Given the description of an element on the screen output the (x, y) to click on. 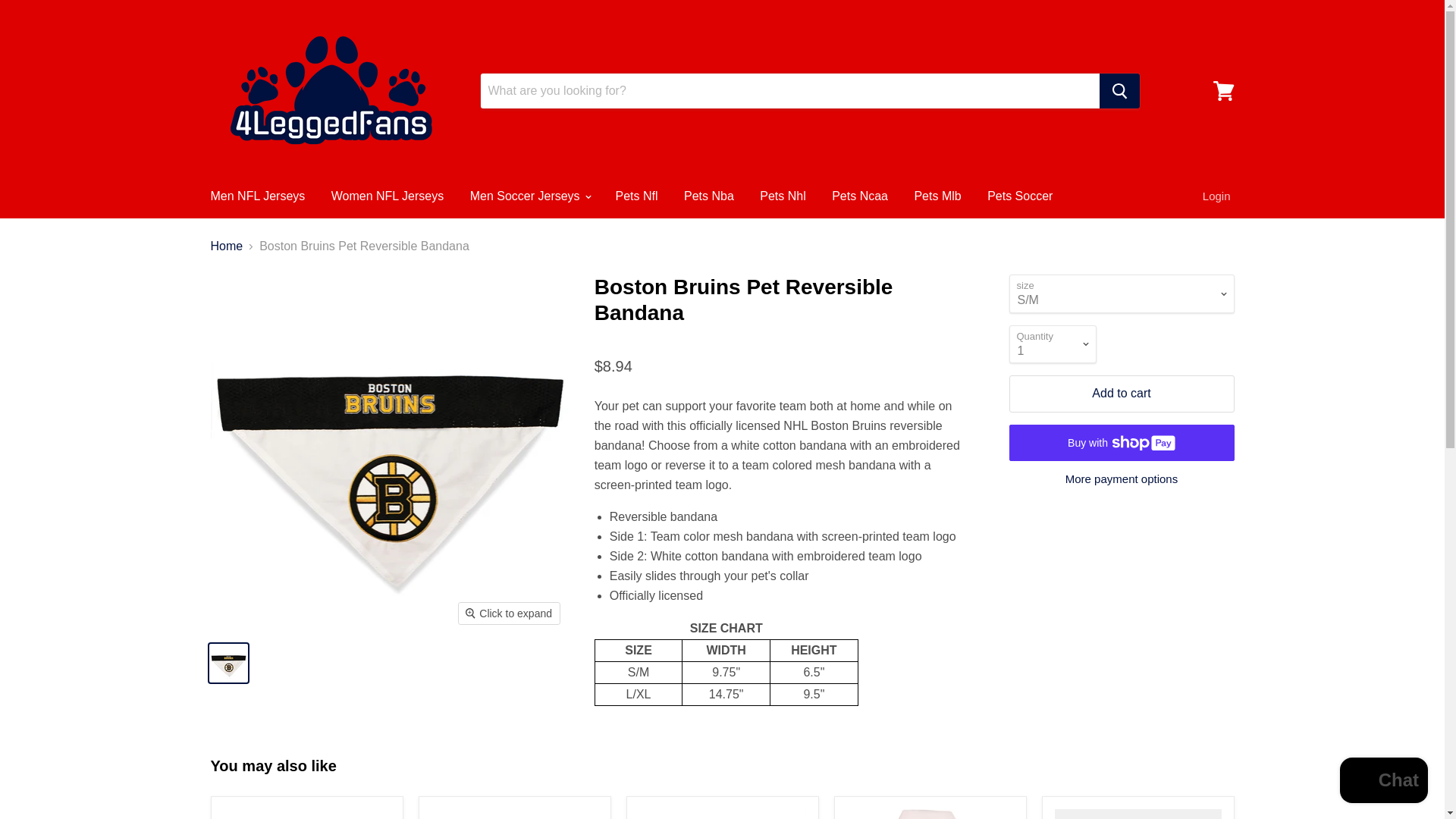
Pets Mlb (937, 196)
Pets Nhl (782, 196)
Women NFL Jerseys (387, 196)
Men NFL Jerseys (256, 196)
Home (227, 246)
Pets Soccer (1019, 196)
Pets Nba (708, 196)
Pets Ncaa (860, 196)
Click to expand (508, 613)
Shopify online store chat (1383, 781)
